Given the description of an element on the screen output the (x, y) to click on. 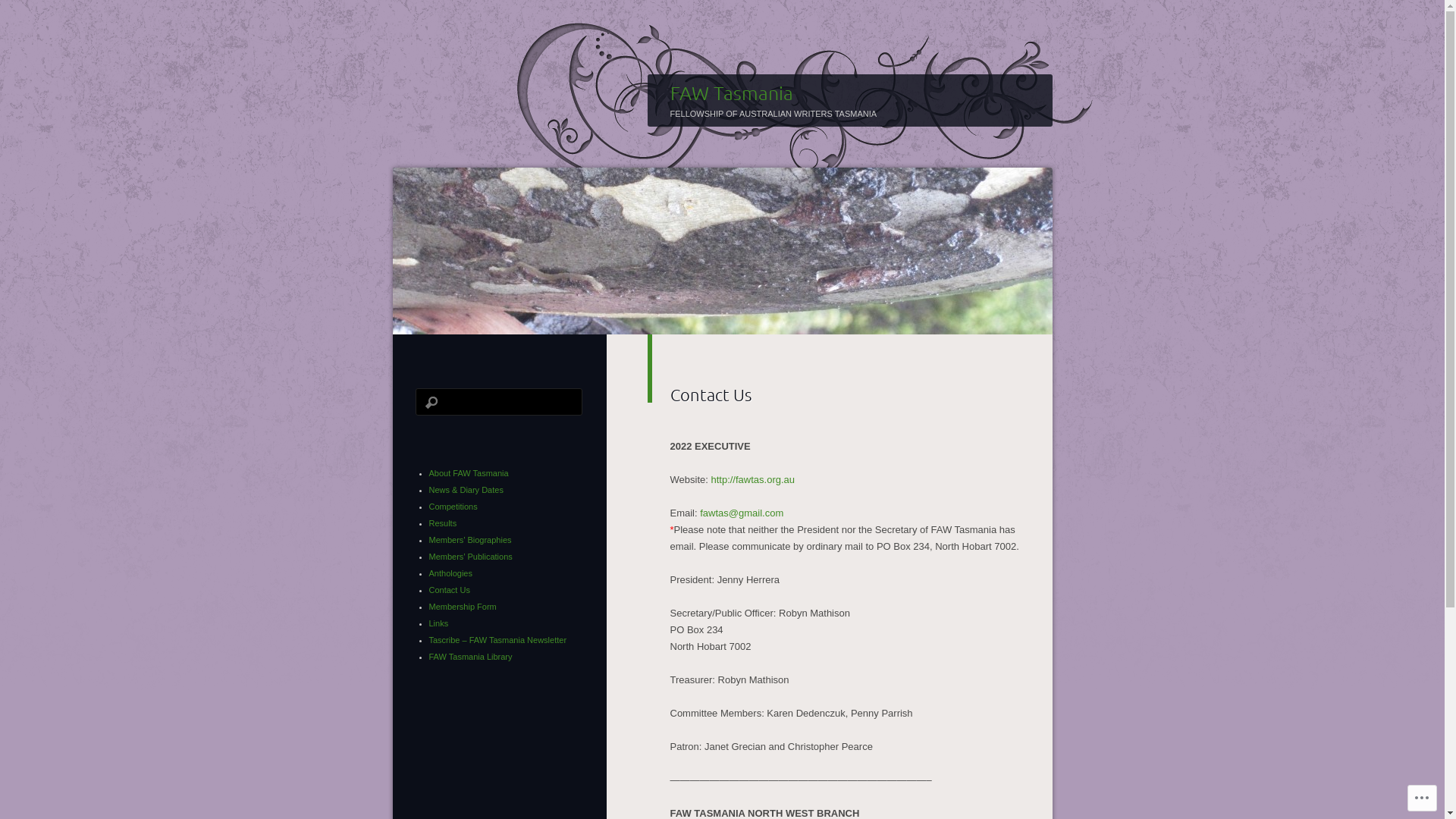
Membership Form Element type: text (462, 606)
FAW Tasmania Library Element type: text (470, 656)
About FAW Tasmania Element type: text (468, 472)
http://fawtas.org.au Element type: text (752, 478)
Contact Us Element type: text (449, 589)
Anthologies Element type: text (451, 572)
FAW Tasmania Element type: text (731, 92)
Links Element type: text (438, 622)
fawtas@gmail.com Element type: text (741, 511)
Results Element type: text (443, 522)
Competitions Element type: text (453, 506)
Search Element type: text (21, 7)
News & Diary Dates Element type: text (466, 489)
